Given the description of an element on the screen output the (x, y) to click on. 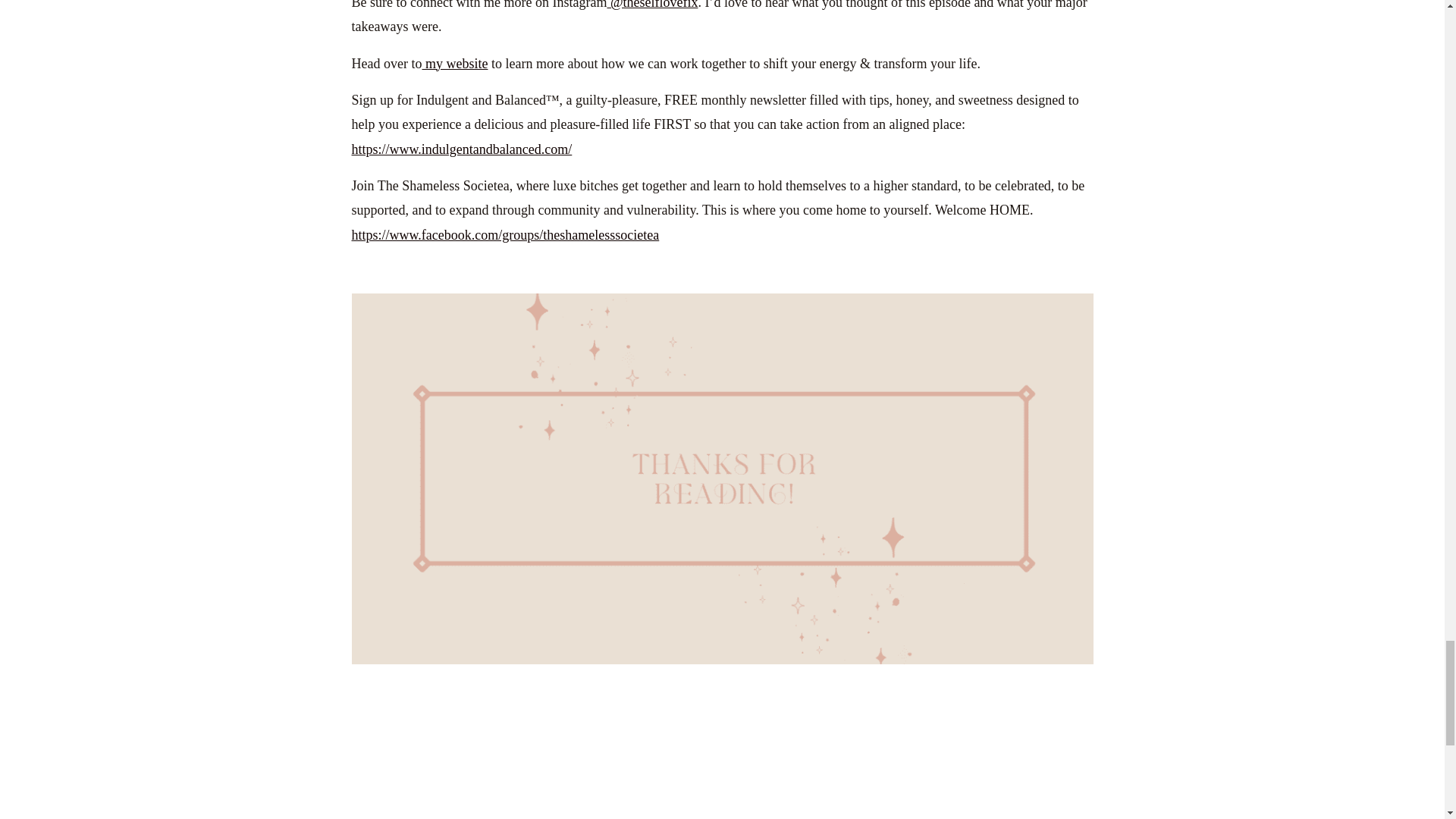
my website (454, 63)
